Given the description of an element on the screen output the (x, y) to click on. 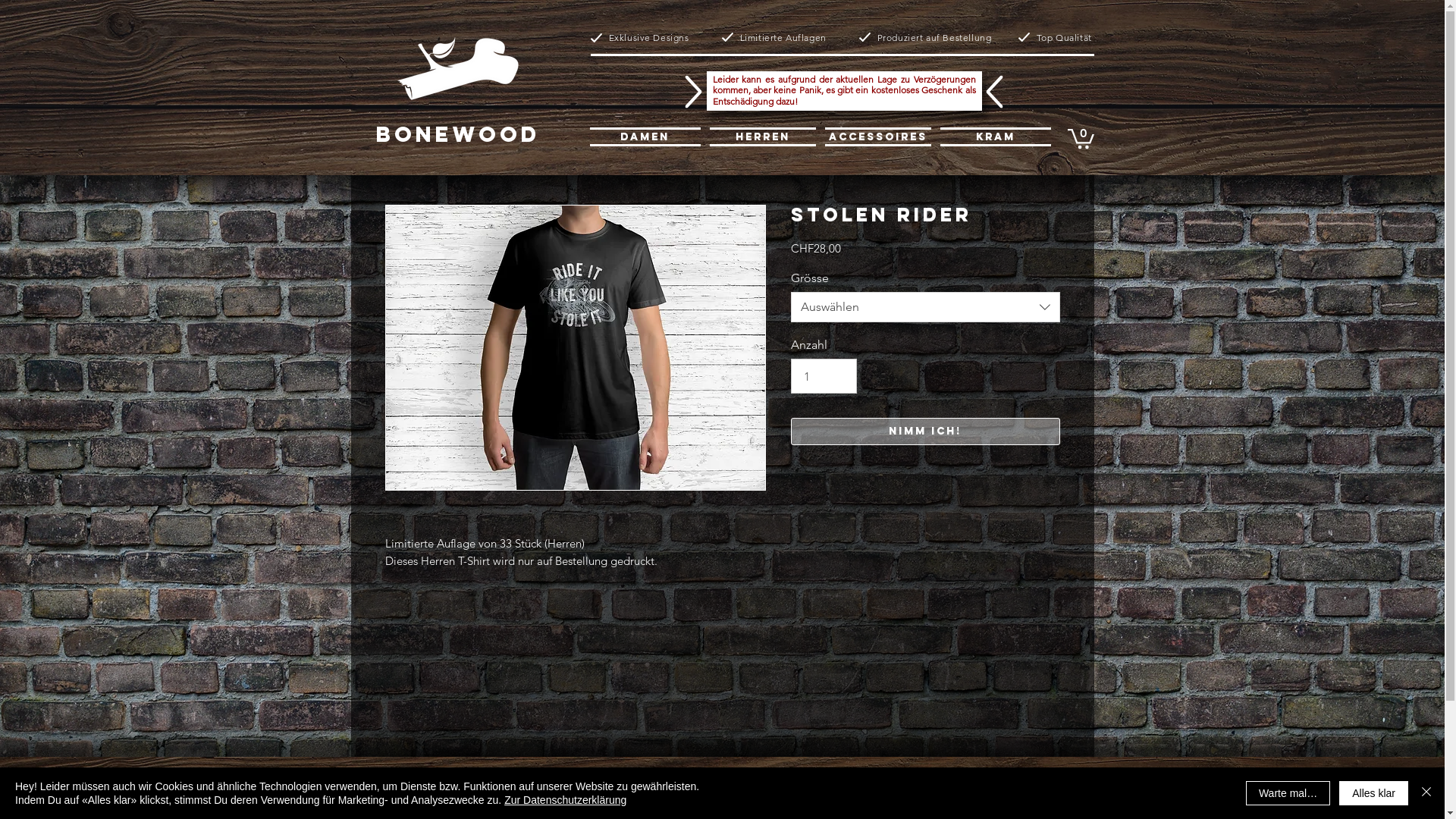
BONEWOOD_LOGO.png Element type: hover (457, 67)
Nimm ich! Element type: text (924, 431)
Damen Element type: text (647, 136)
Alles klar Element type: text (1373, 793)
Accessoires Element type: text (877, 136)
Gutscheine Element type: text (994, 800)
AGB Element type: text (410, 800)
Kram Element type: text (993, 136)
Herren Element type: text (762, 136)
0 Element type: text (1080, 137)
. Element type: text (457, 80)
KONTAKT Element type: text (539, 801)
